Given the description of an element on the screen output the (x, y) to click on. 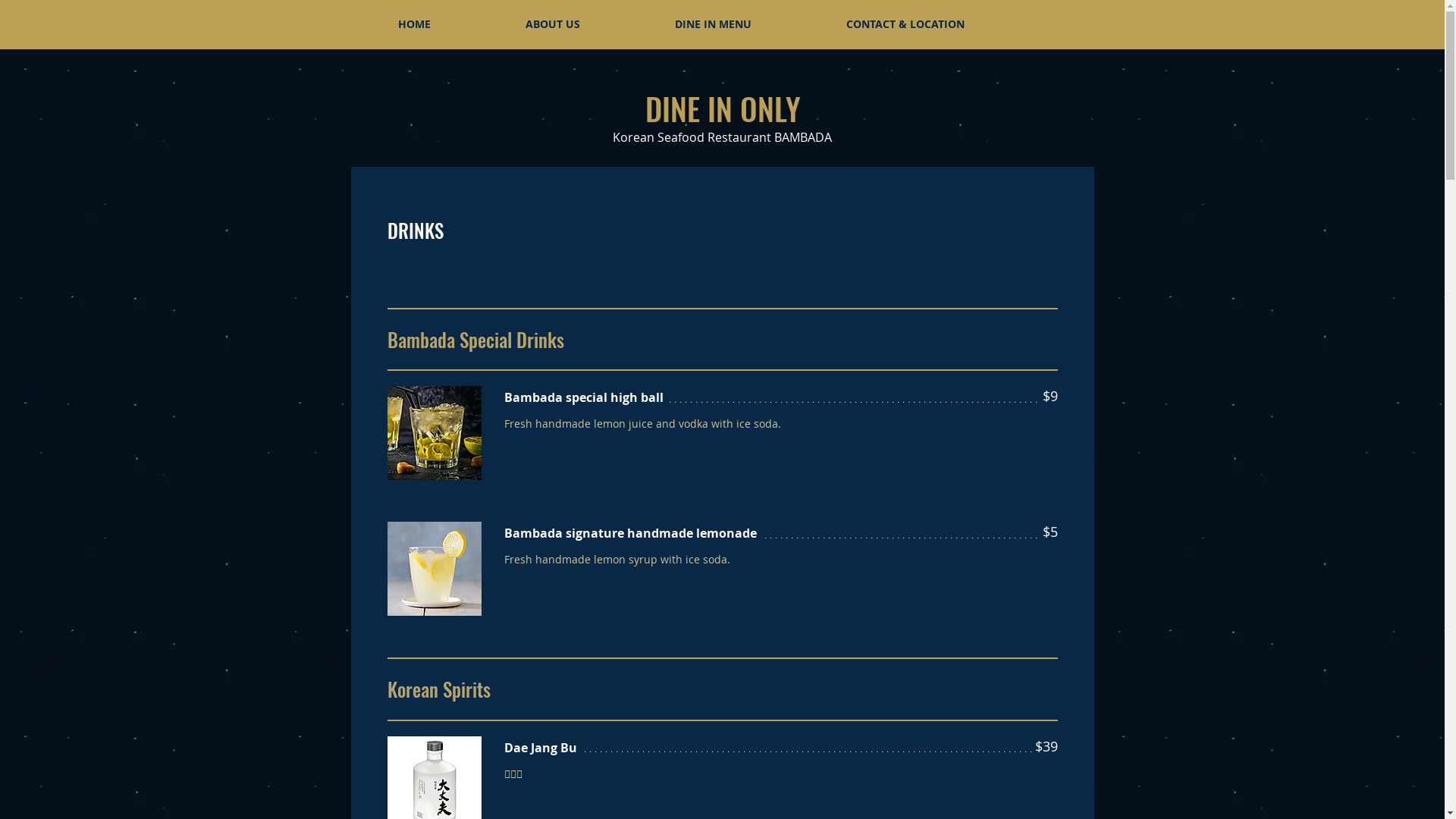
HOME Element type: text (413, 23)
CONTACT & LOCATION Element type: text (905, 23)
DINE IN MENU Element type: text (713, 23)
TWIPLA (Visitor Analytics) Element type: hover (1442, 4)
ABOUT US Element type: text (552, 23)
